Given the description of an element on the screen output the (x, y) to click on. 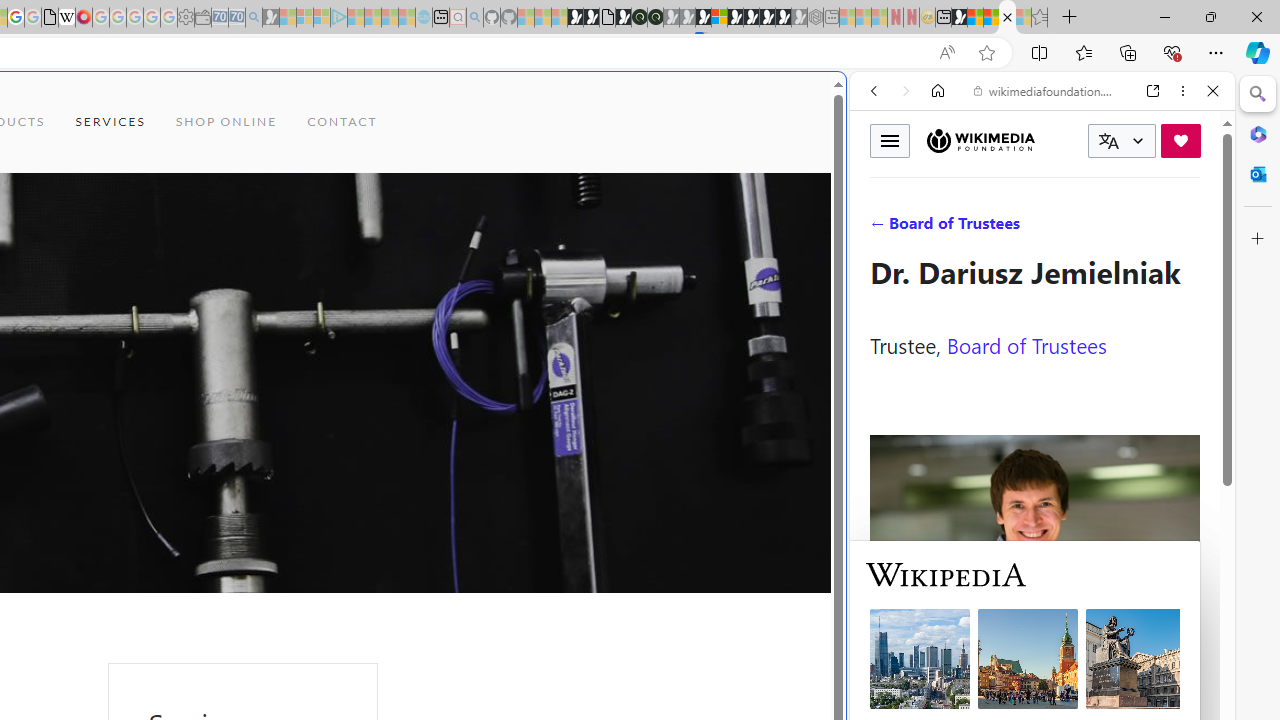
wikimediafoundation.org (1045, 90)
Microsoft Start - Sleeping (389, 17)
Tabs you've opened (276, 265)
Frequently visited (418, 265)
Close Customize pane (1258, 239)
CONTACT (341, 122)
Search Filter, VIDEOS (1006, 228)
Search Filter, WEB (882, 228)
SERVICES (110, 122)
Forward (906, 91)
